Given the description of an element on the screen output the (x, y) to click on. 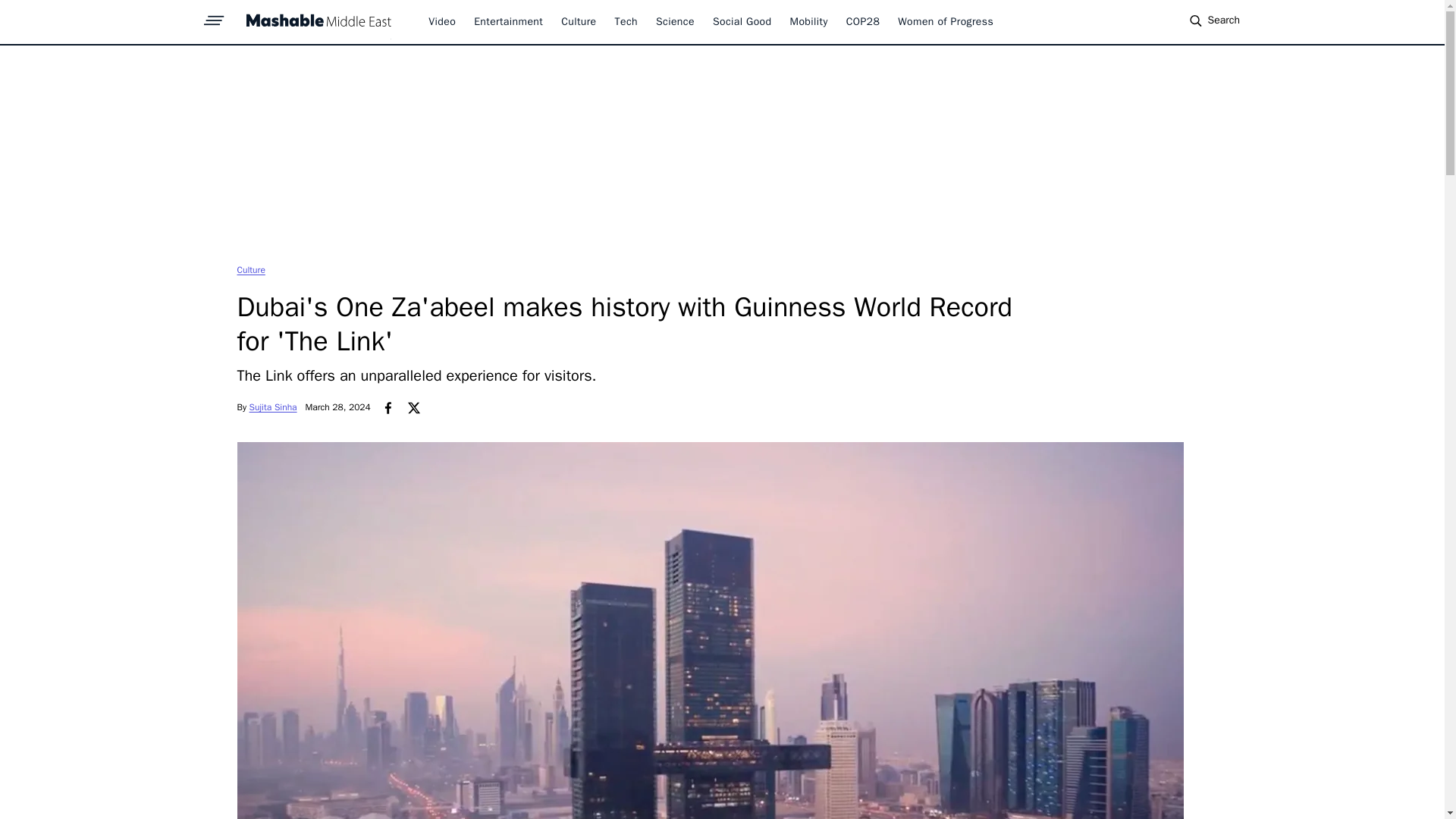
Social Good (742, 21)
Tech (625, 21)
Entertainment (508, 21)
Culture (249, 269)
Culture (577, 21)
Science (675, 21)
Culture (249, 269)
COP28 (862, 21)
sprite-hamburger (213, 16)
Women of Progress (945, 21)
